Given the description of an element on the screen output the (x, y) to click on. 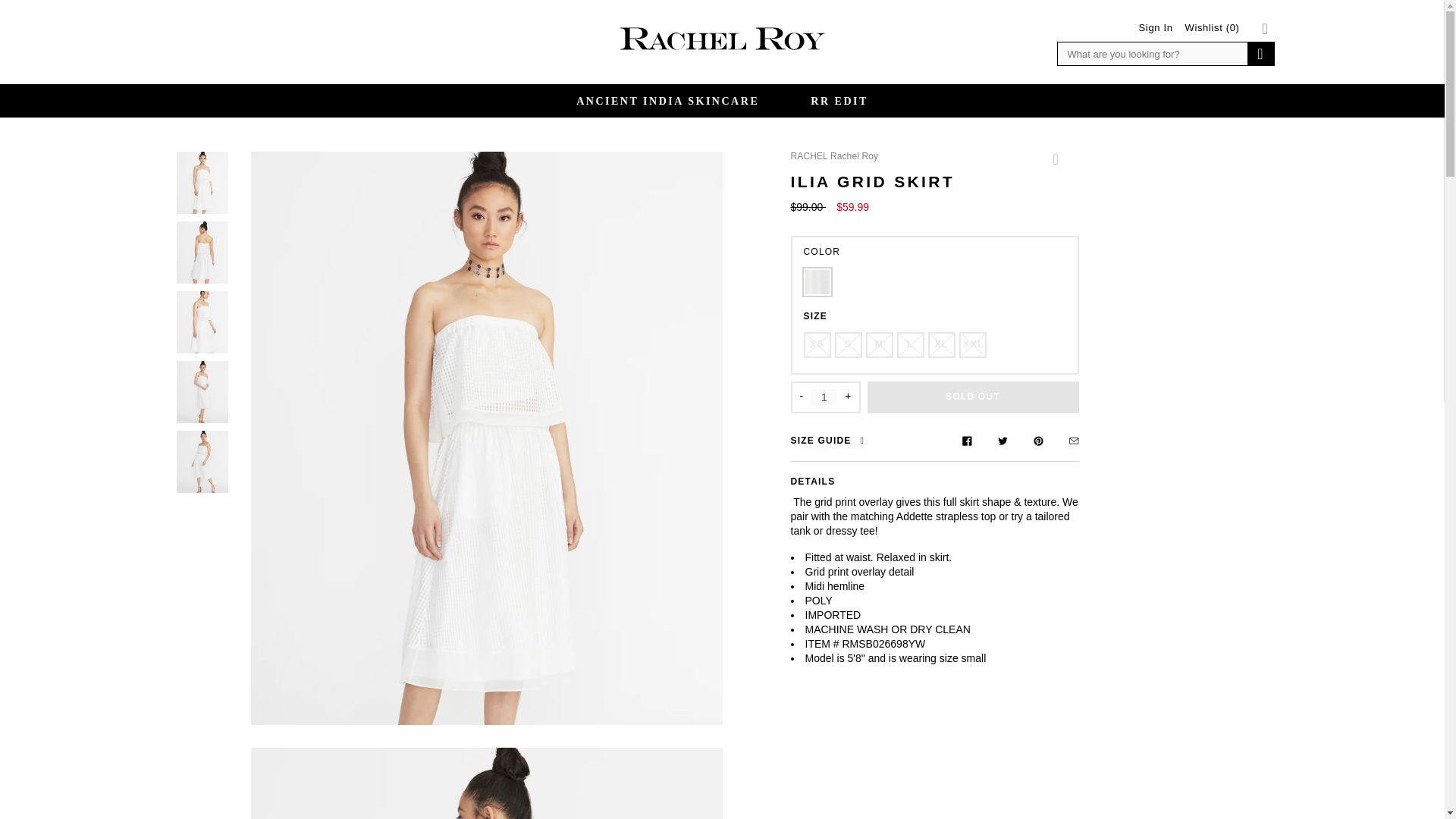
SIZE GUIDE (829, 442)
SOLD OUT (972, 397)
Size Guide (829, 442)
RR EDIT (838, 100)
ANCIENT INDIA SKINCARE (667, 100)
Search (1259, 53)
1 (823, 397)
Sign In (1155, 27)
